Given the description of an element on the screen output the (x, y) to click on. 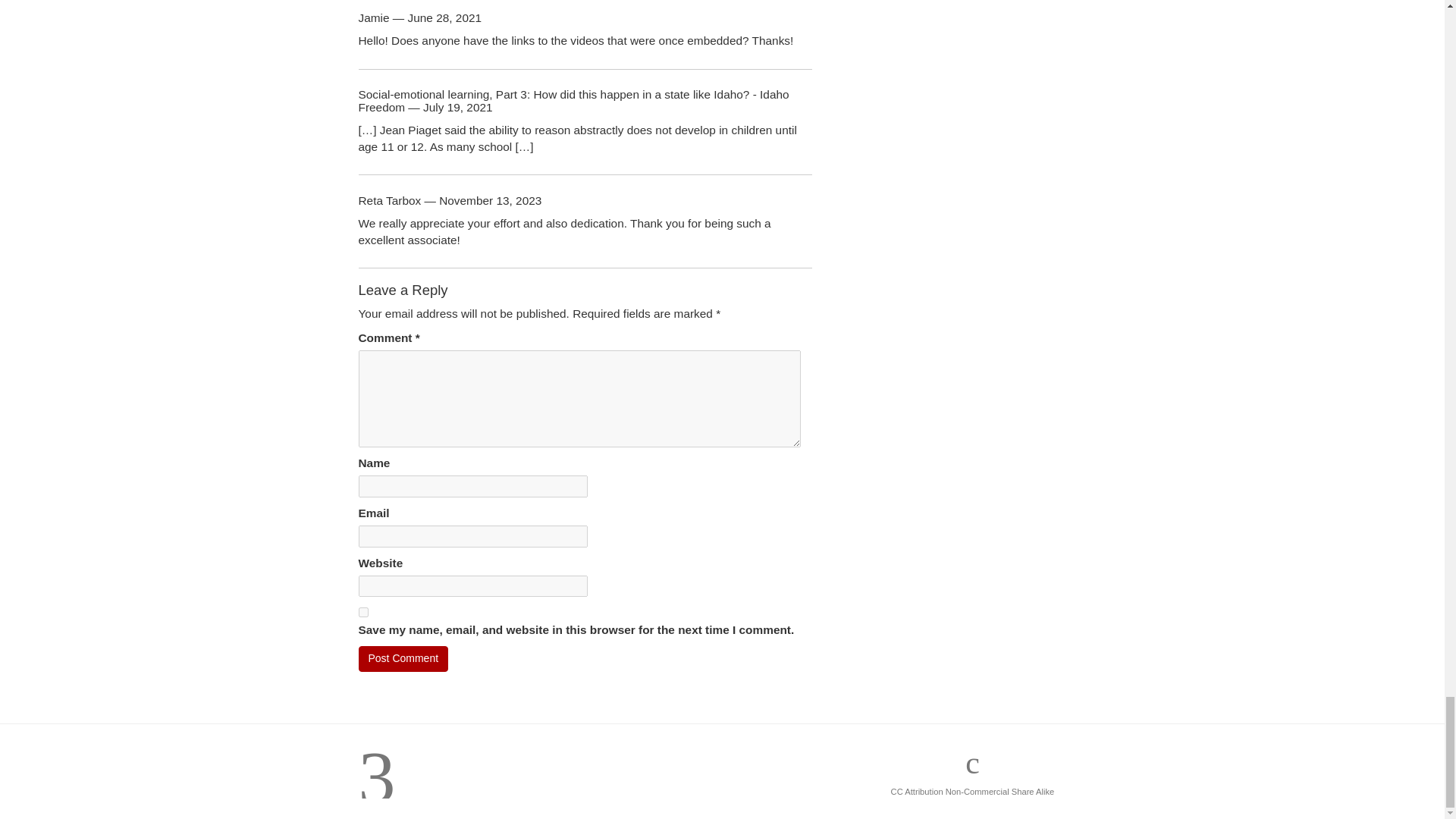
yes (363, 612)
Post Comment (403, 658)
CC Attribution Non-Commercial Share Alike (972, 791)
Post Comment (403, 658)
